Given the description of an element on the screen output the (x, y) to click on. 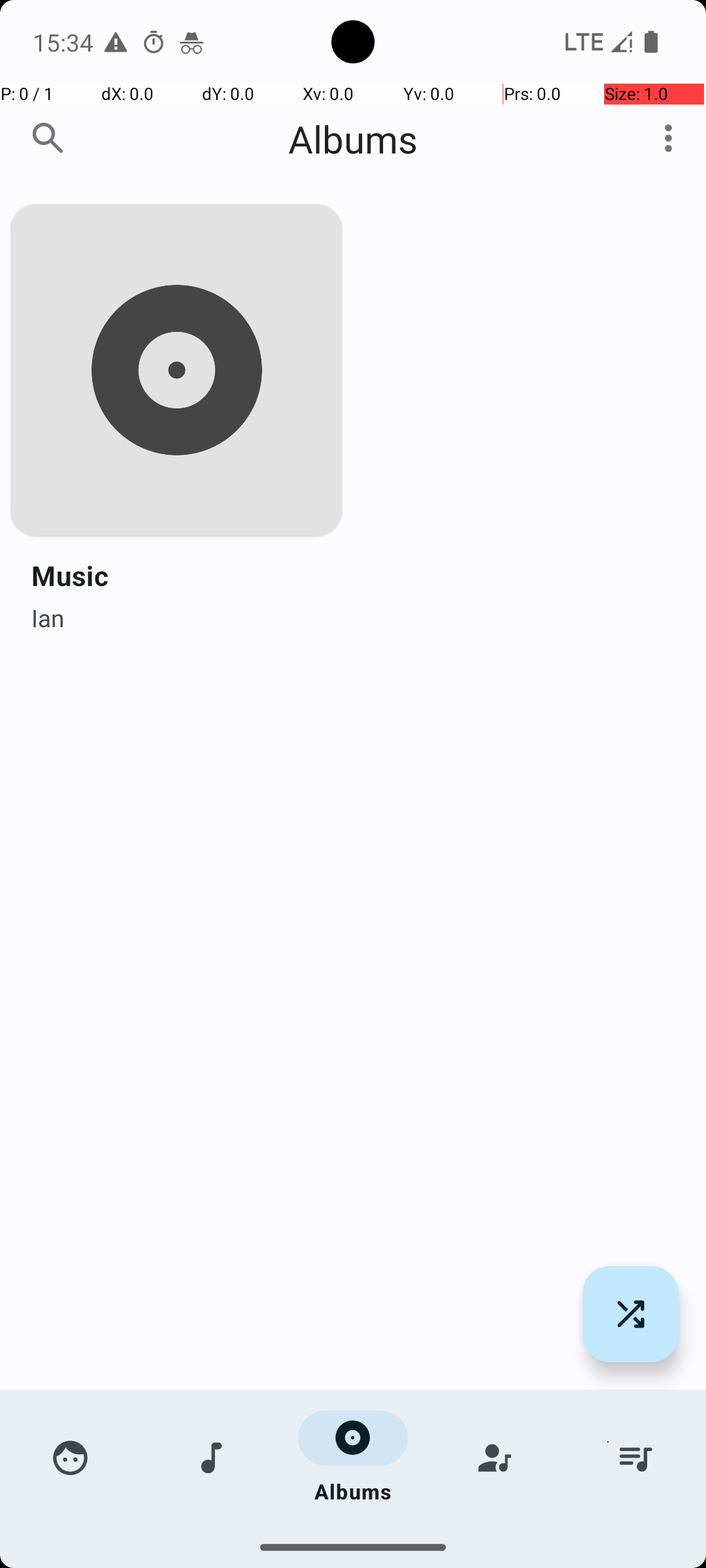
Music Element type: android.widget.TextView (69, 574)
Ian Element type: android.widget.TextView (47, 613)
